Given the description of an element on the screen output the (x, y) to click on. 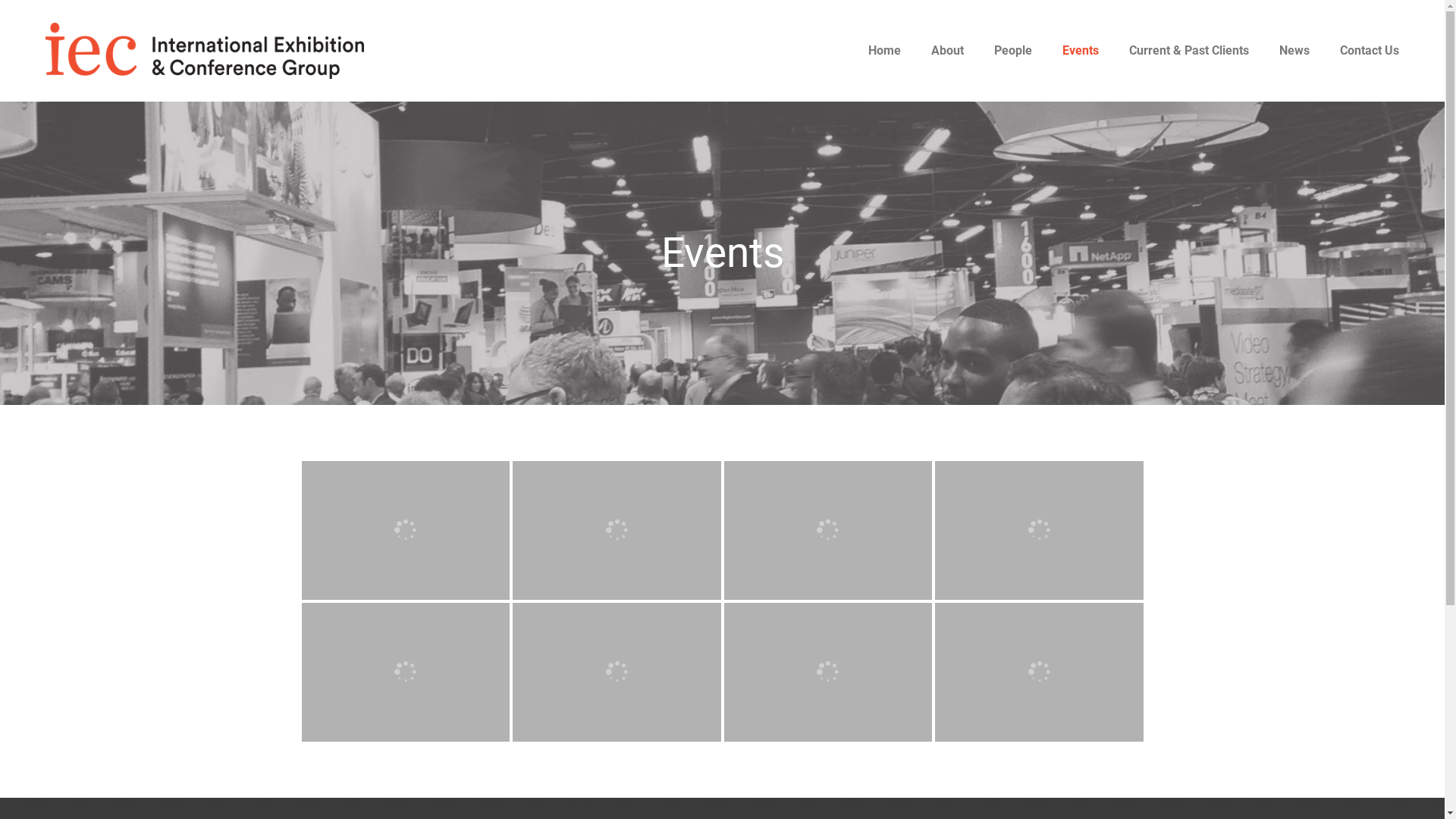
Our Events - Modern Manufacturing Expo Element type: hover (405, 530)
People Element type: text (1013, 50)
Events Element type: text (1080, 50)
Global Sourcing Expo Melbourne Element type: hover (590, 671)
Our Events - Footwear & Leather Show Element type: hover (801, 671)
Our Events - Global Sourcing Expo Sydney Element type: hover (379, 671)
Home Element type: text (884, 50)
Our Events - Workplace Health and Safety Show Element type: hover (590, 529)
Our Events - National Education Summit Element type: hover (801, 529)
Contact Us Element type: text (1369, 50)
News Element type: text (1294, 50)
Our Events - Free From & Allergy Show Element type: hover (1013, 671)
Our Events - The Education Show Element type: hover (1013, 529)
Current & Past Clients Element type: text (1188, 50)
About Element type: text (947, 50)
